Given the description of an element on the screen output the (x, y) to click on. 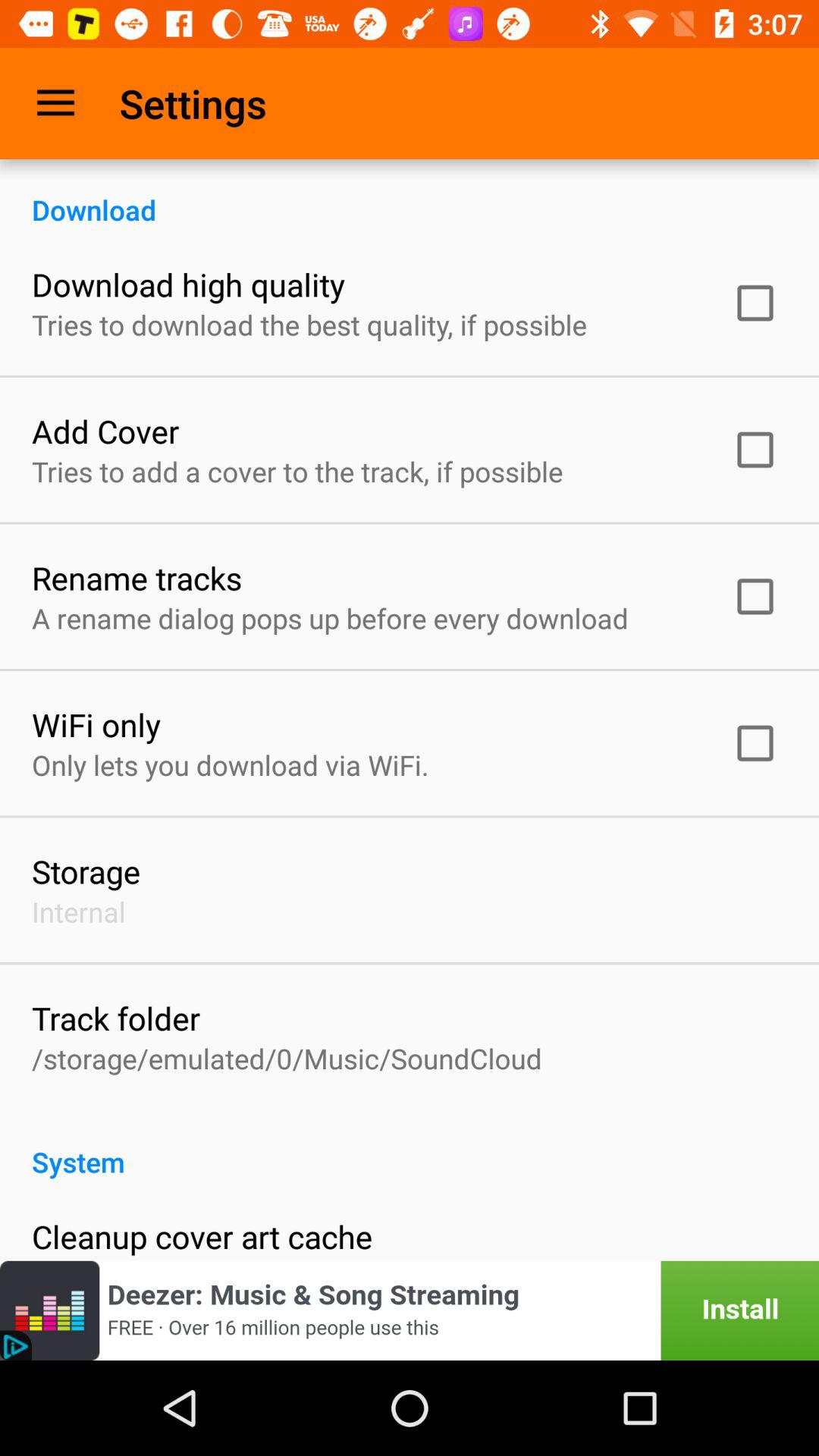
tap only lets you icon (229, 764)
